Given the description of an element on the screen output the (x, y) to click on. 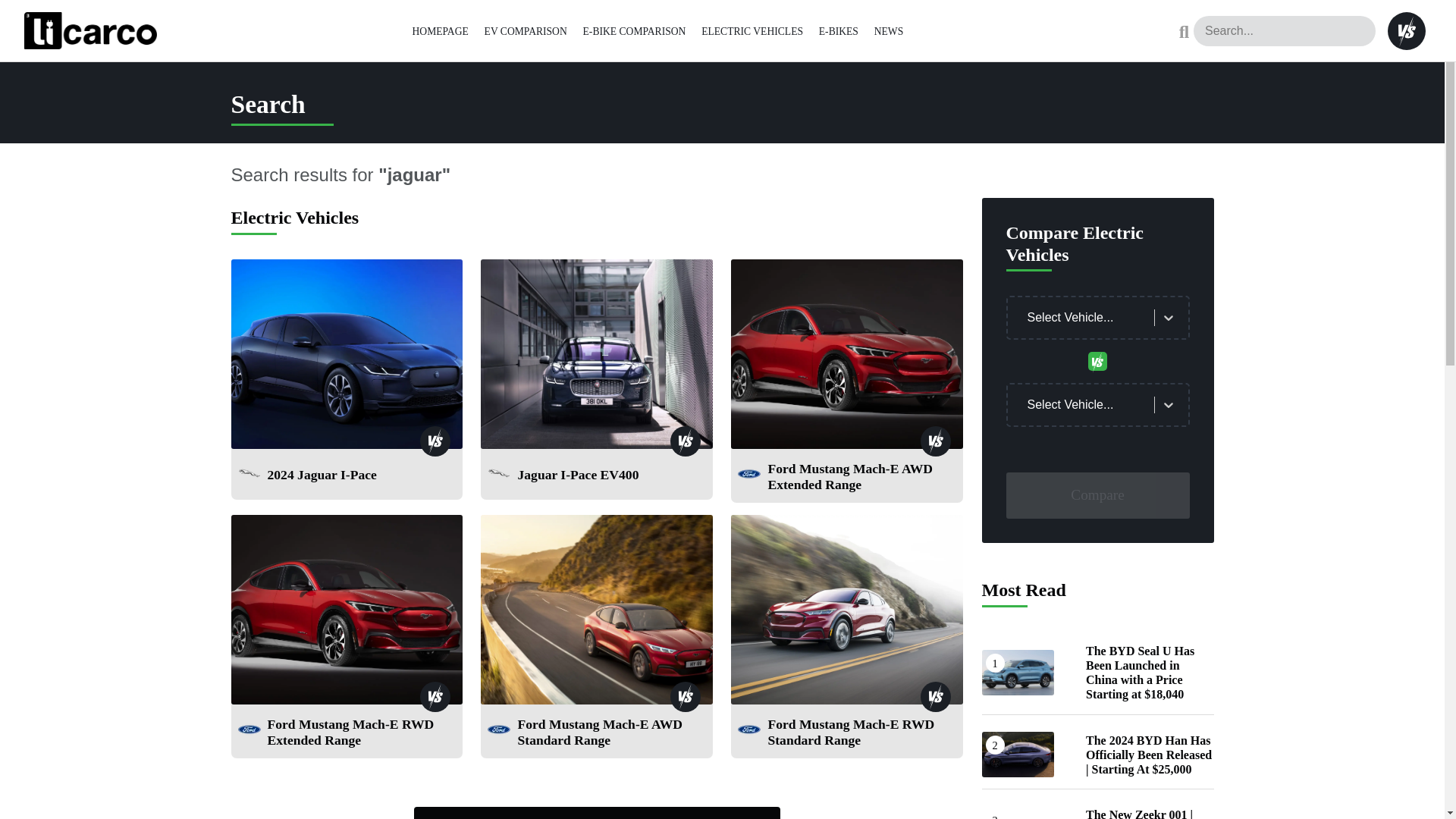
2024 Jaguar I-Pace (320, 477)
E-BIKE COMPARISON (634, 30)
2023-jaguar-i-pace-specs (346, 353)
Ford Mustang Mach-E RWD Standard Range (861, 735)
ELECTRIC VEHICLES (752, 30)
ford-mustang-mach-e-driving-experience (846, 609)
Ford Mustang Mach-E AWD Standard Range (611, 735)
ford-mustang-mach-e-front-studio (346, 609)
More (596, 812)
Ford Mustang Mach-E AWD Extended Range (861, 479)
E-BIKES (838, 30)
ford-mustang-mach-e-red-front-roof (596, 609)
jaguar-i-pace-hero-shot-12 (596, 353)
NEWS (889, 30)
EV COMPARISON (525, 30)
